Given the description of an element on the screen output the (x, y) to click on. 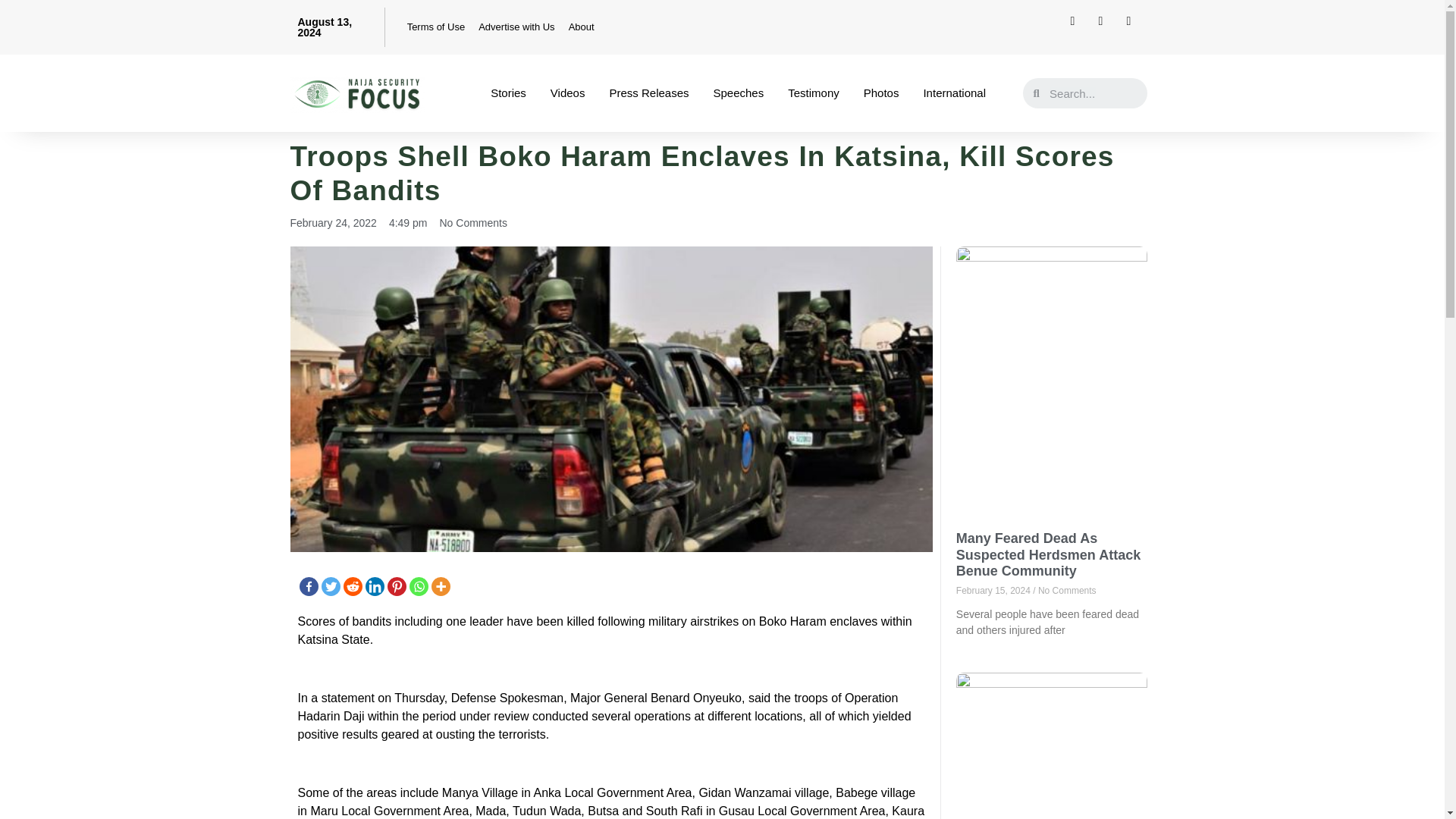
Photos (881, 93)
Linkedin (374, 586)
Videos (567, 93)
Testimony (813, 93)
Terms of Use (435, 26)
More (439, 586)
International (954, 93)
Stories (508, 93)
Twitter (330, 586)
Search (1093, 92)
